Given the description of an element on the screen output the (x, y) to click on. 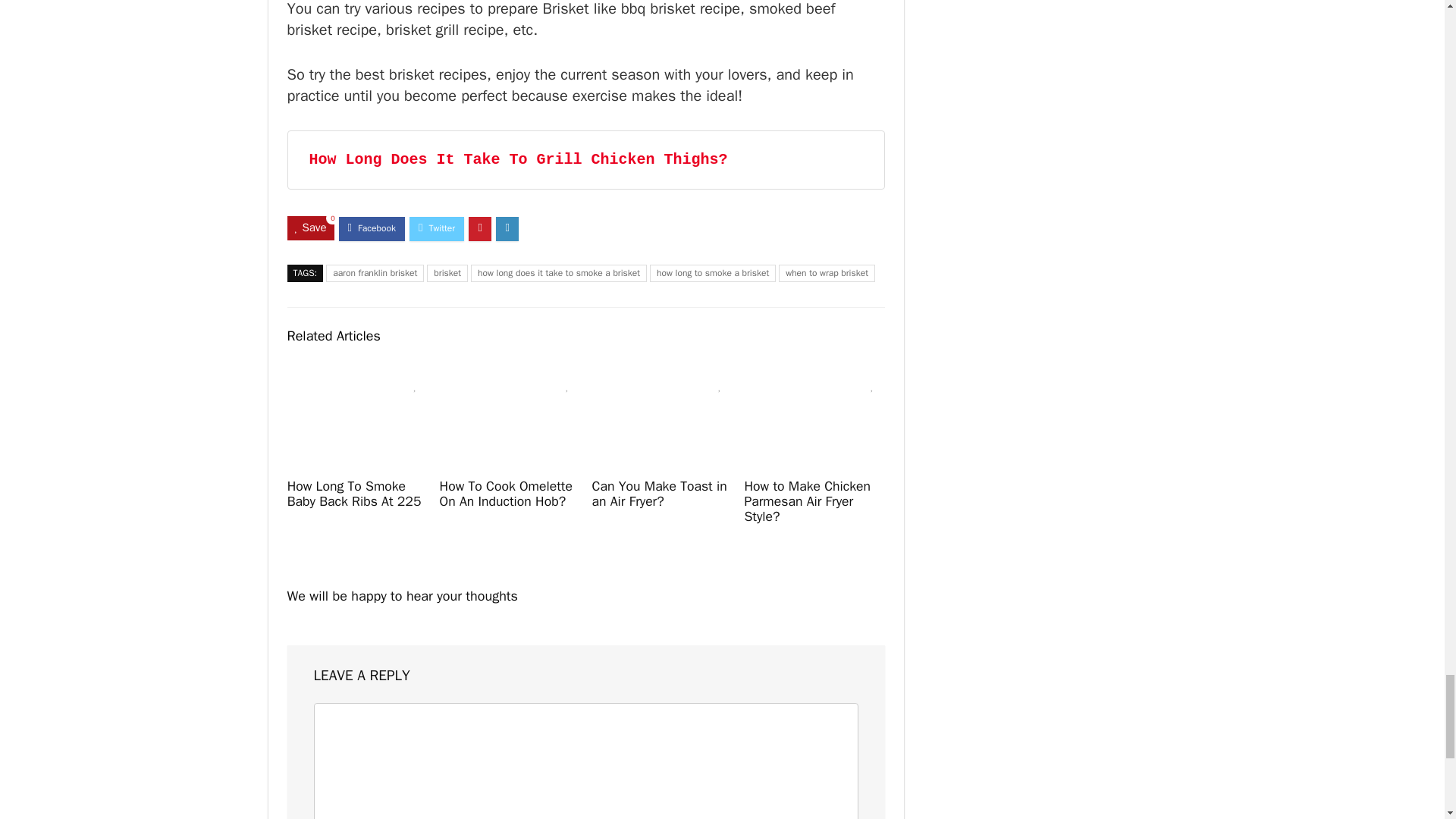
brisket (446, 272)
aaron franklin brisket (374, 272)
how long does it take to smoke a brisket (558, 272)
How Long Does It Take To Grill Chicken Thighs? (518, 159)
Can You Make Toast in an Air Fryer? (658, 493)
when to wrap brisket (826, 272)
How to Make Chicken Parmesan Air Fryer Style? (807, 500)
How To Cook Omelette On An Induction Hob?  (505, 493)
how long to smoke a brisket (712, 272)
How Long To Smoke Baby Back Ribs At 225 (354, 493)
